Given the description of an element on the screen output the (x, y) to click on. 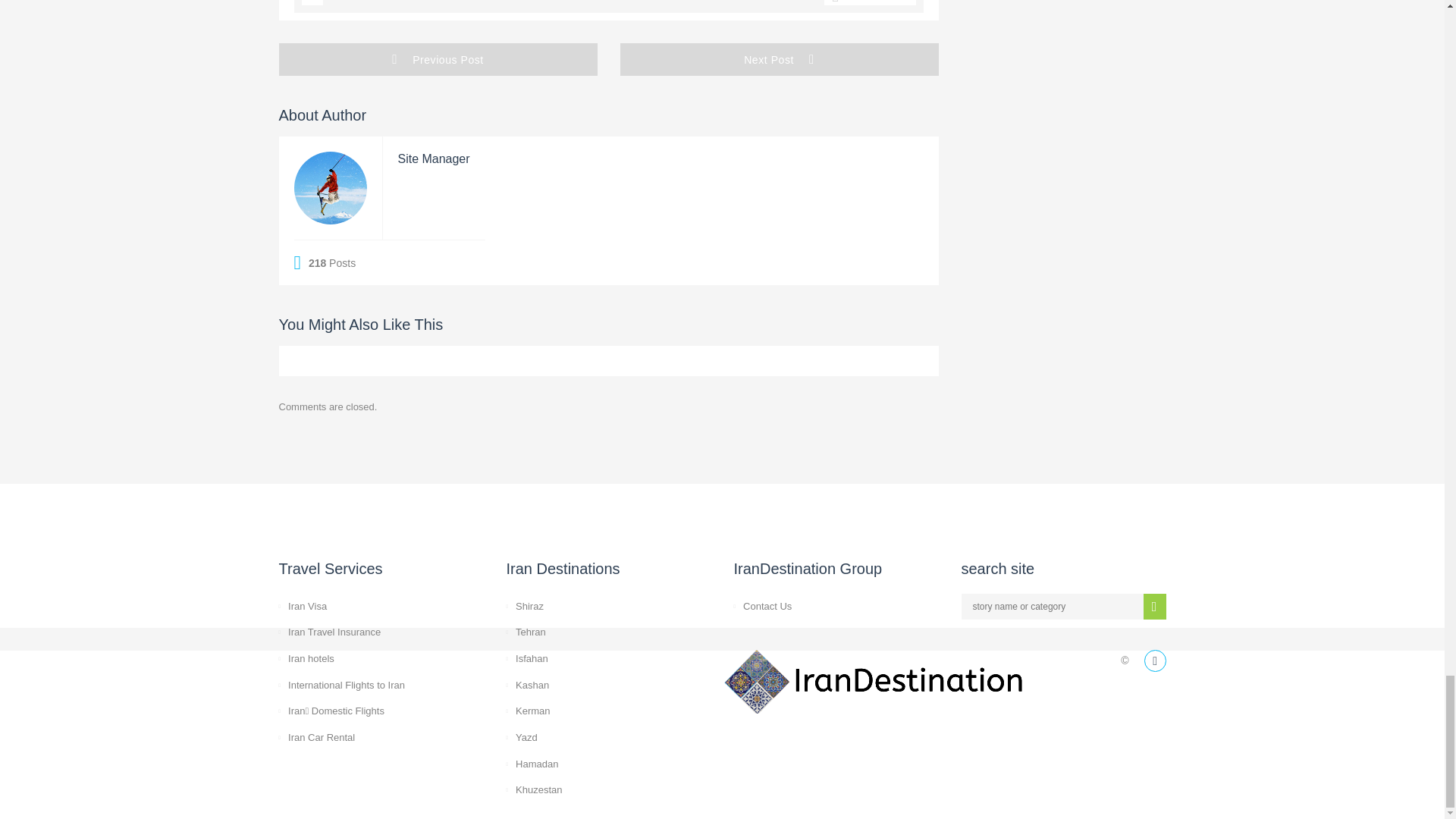
Posts by Site Manager (432, 158)
